Given the description of an element on the screen output the (x, y) to click on. 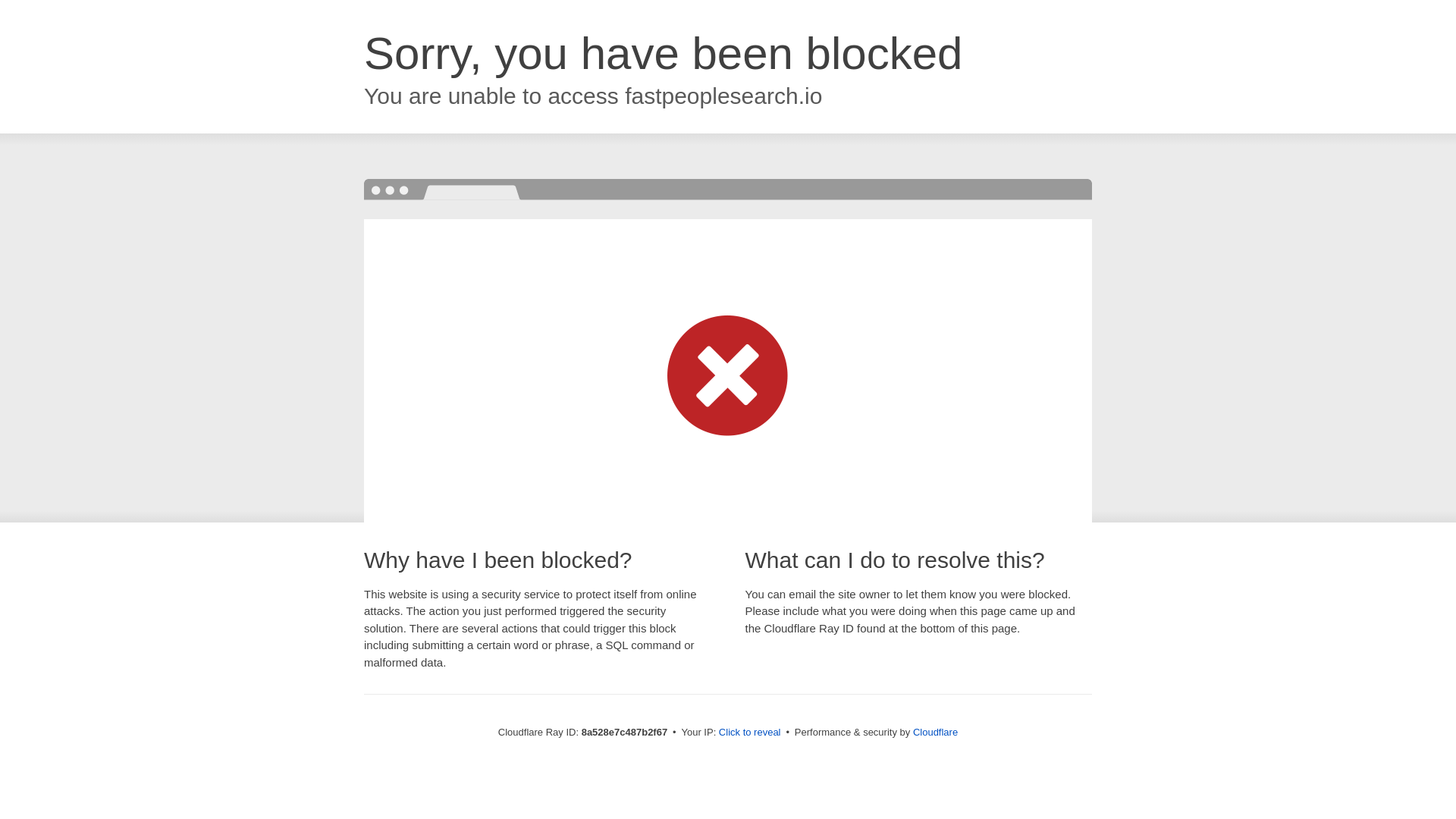
Click to reveal (749, 732)
Cloudflare (935, 731)
